Given the description of an element on the screen output the (x, y) to click on. 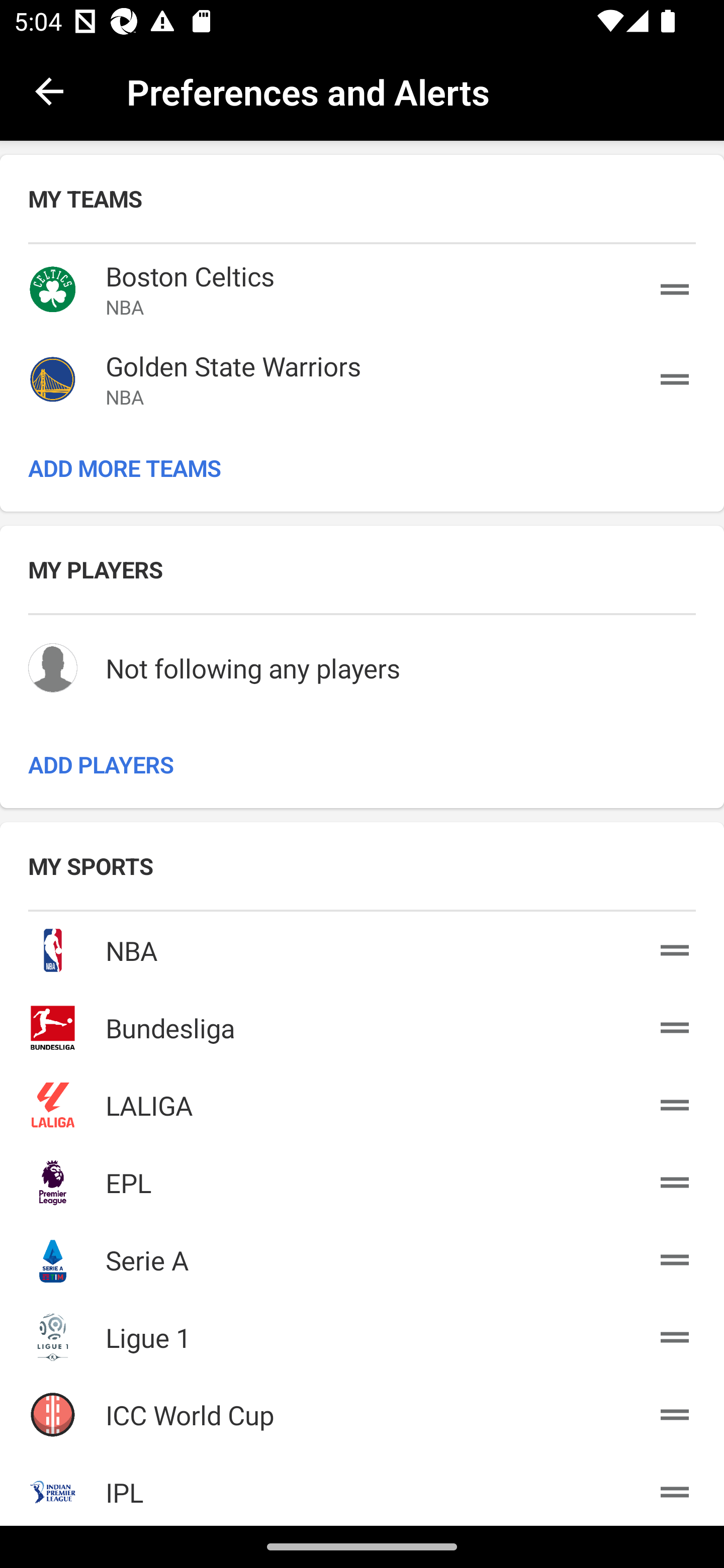
back.button (49, 90)
ADD MORE TEAMS (362, 467)
ADD PLAYERS (362, 764)
NBA NBA NBA (362, 946)
Bundesliga Bundesliga Bundesliga (362, 1024)
LALIGA LALIGA LALIGA (362, 1101)
EPL EPL EPL (362, 1178)
Serie A Serie A Serie A (362, 1256)
Ligue 1 Ligue 1 Ligue 1 (362, 1333)
ICC World Cup ICC World Cup ICC World Cup (362, 1411)
IPL IPL IPL (362, 1487)
